Given the description of an element on the screen output the (x, y) to click on. 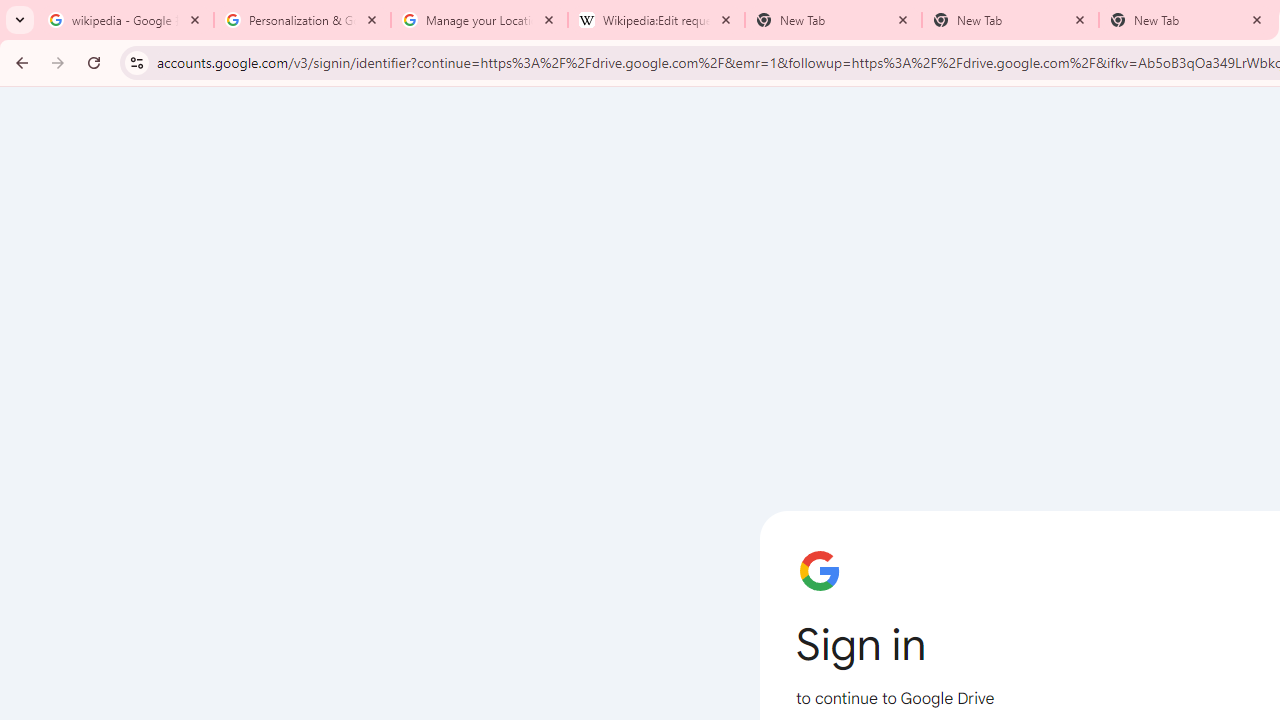
New Tab (1010, 20)
Wikipedia:Edit requests - Wikipedia (656, 20)
Personalization & Google Search results - Google Search Help (301, 20)
Manage your Location History - Google Search Help (479, 20)
